Given the description of an element on the screen output the (x, y) to click on. 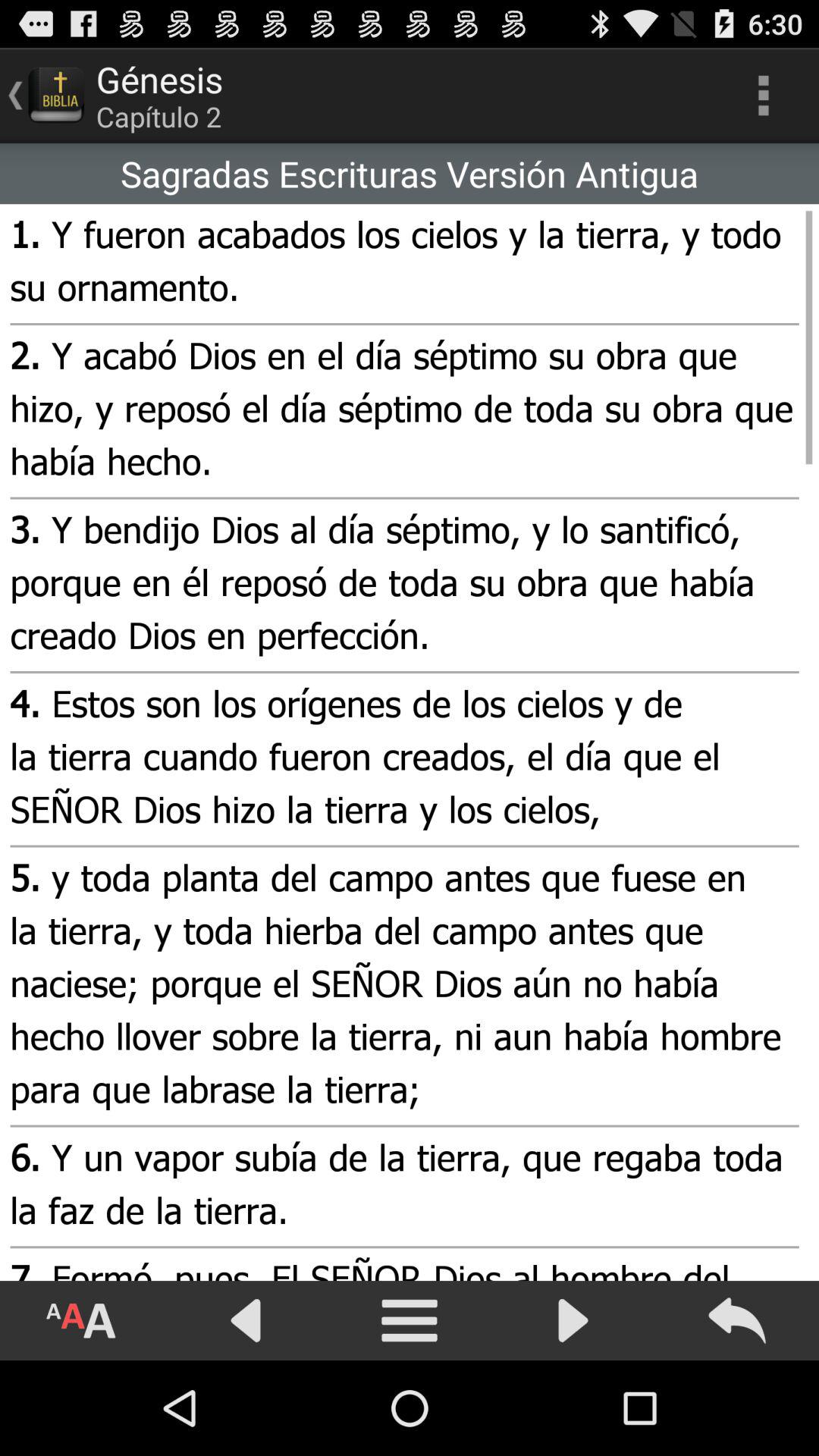
press the item below the 6 y un app (402, 1264)
